Given the description of an element on the screen output the (x, y) to click on. 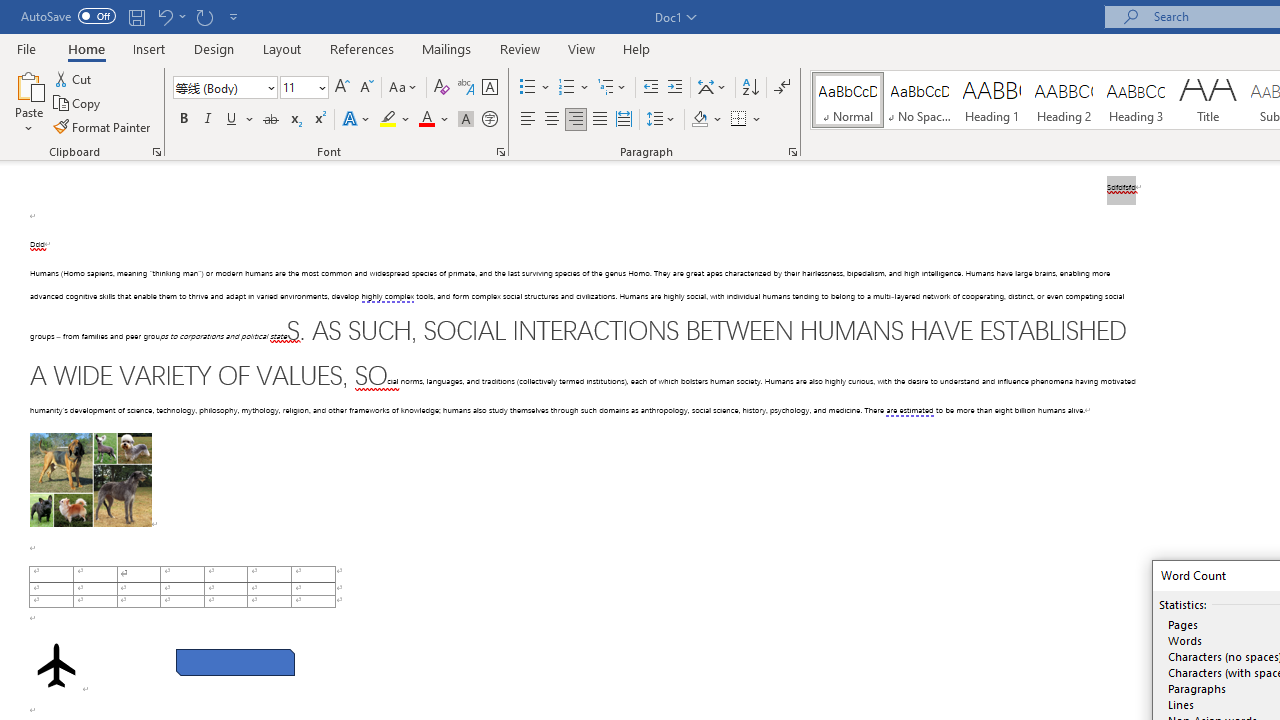
Undo Paragraph Alignment (170, 15)
Repeat Paragraph Alignment (204, 15)
